Given the description of an element on the screen output the (x, y) to click on. 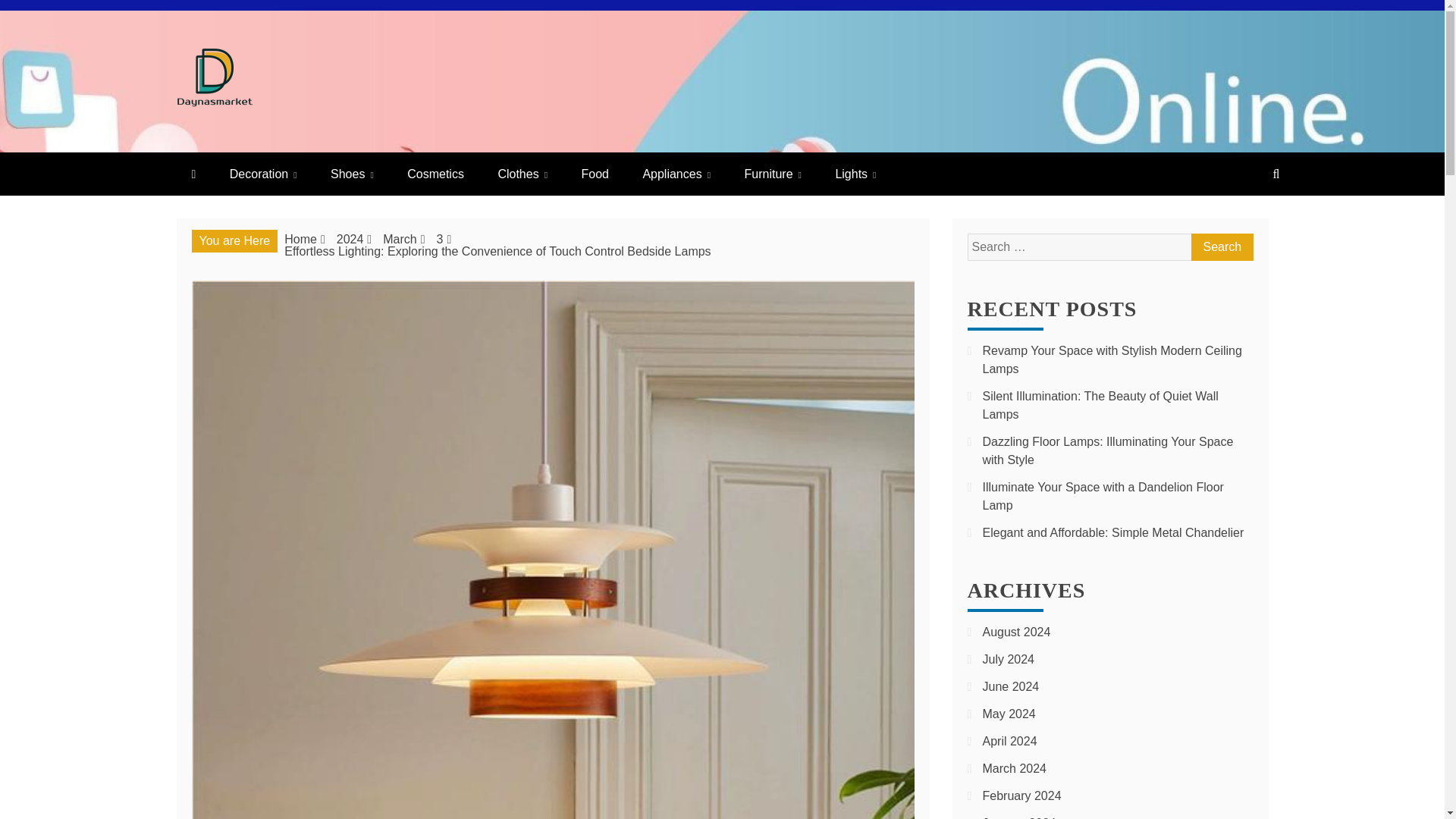
Cosmetics (435, 173)
Food (594, 173)
Search (1221, 247)
Shoes (351, 173)
Clothes (521, 173)
DAYNASMARKET (343, 137)
Lights (855, 173)
Furniture (772, 173)
Decoration (263, 173)
Home (300, 238)
